Given the description of an element on the screen output the (x, y) to click on. 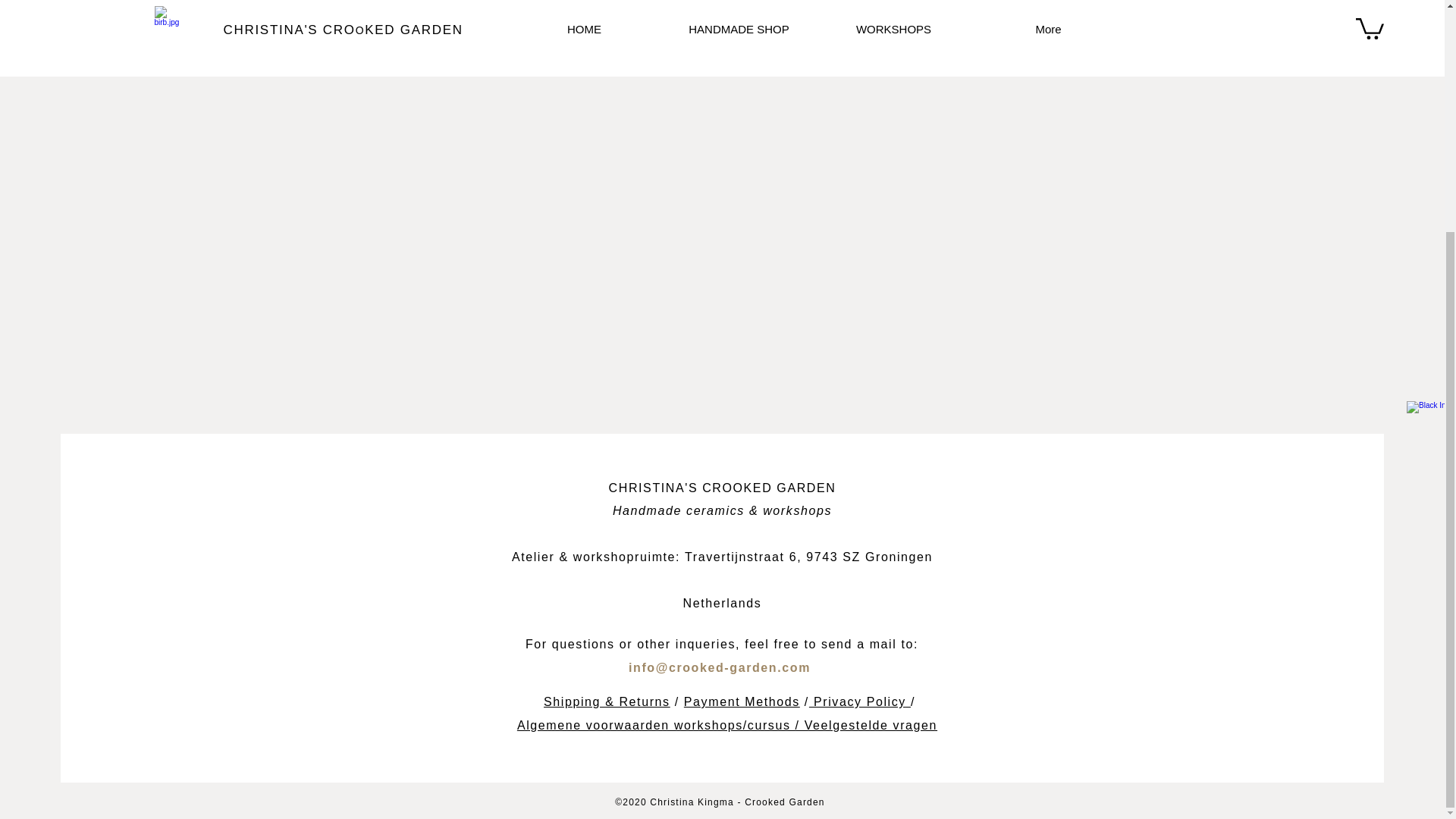
Payment Methods (741, 701)
Out of Stock (956, 37)
 Privacy Policy (857, 701)
